Given the description of an element on the screen output the (x, y) to click on. 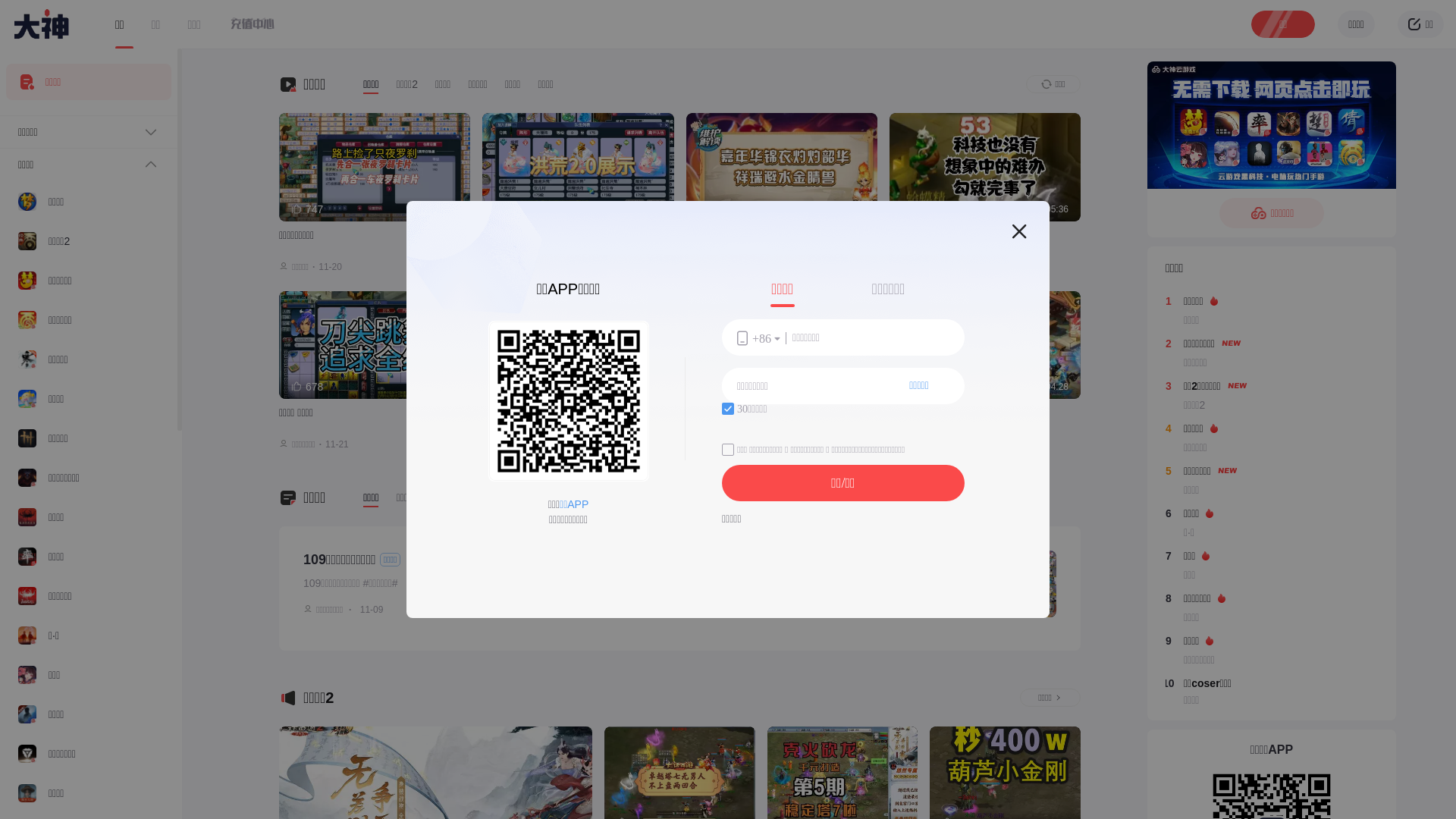
331 Element type: text (713, 386)
11 Element type: text (478, 609)
817 Element type: text (510, 386)
696 Element type: text (713, 209)
422 Element type: text (510, 209)
678 Element type: text (307, 386)
16 Element type: text (423, 609)
479 Element type: text (917, 386)
747 Element type: text (307, 209)
677 Element type: text (917, 209)
